Given the description of an element on the screen output the (x, y) to click on. 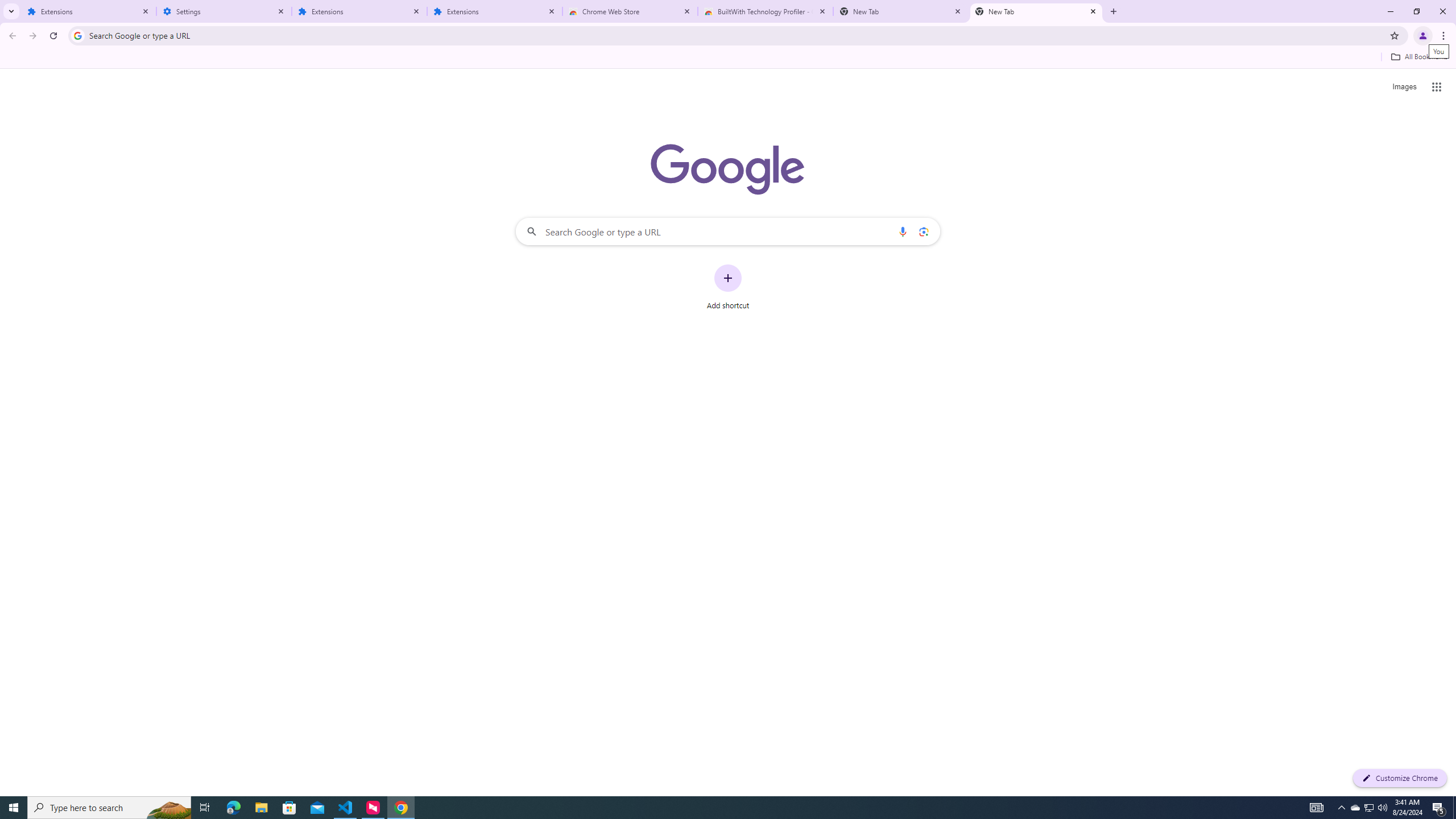
Chrome Web Store (630, 11)
Settings (224, 11)
Extensions (359, 11)
Extensions (88, 11)
BuiltWith Technology Profiler - Chrome Web Store (765, 11)
